Given the description of an element on the screen output the (x, y) to click on. 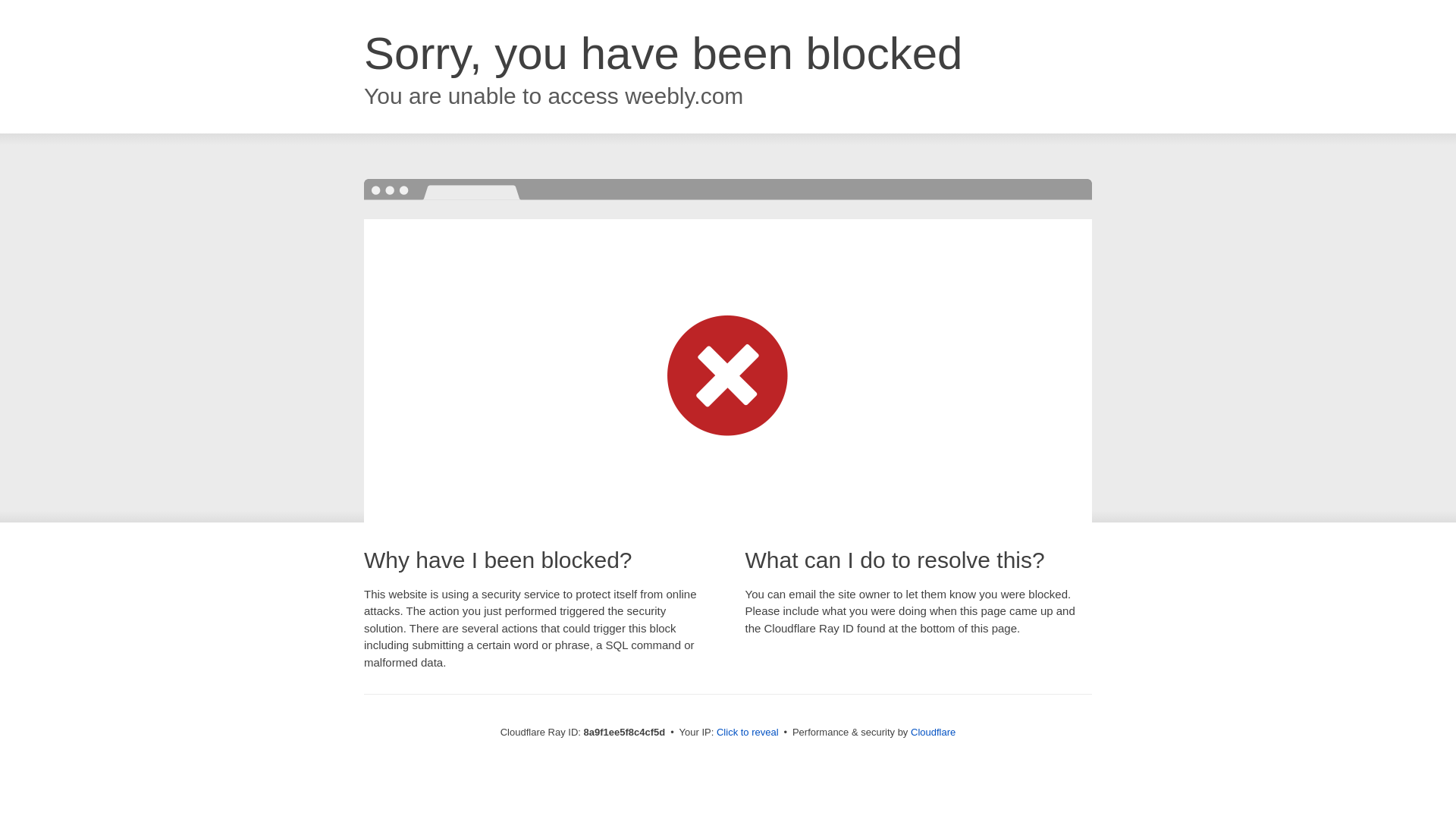
Cloudflare (933, 731)
Click to reveal (747, 732)
